Given the description of an element on the screen output the (x, y) to click on. 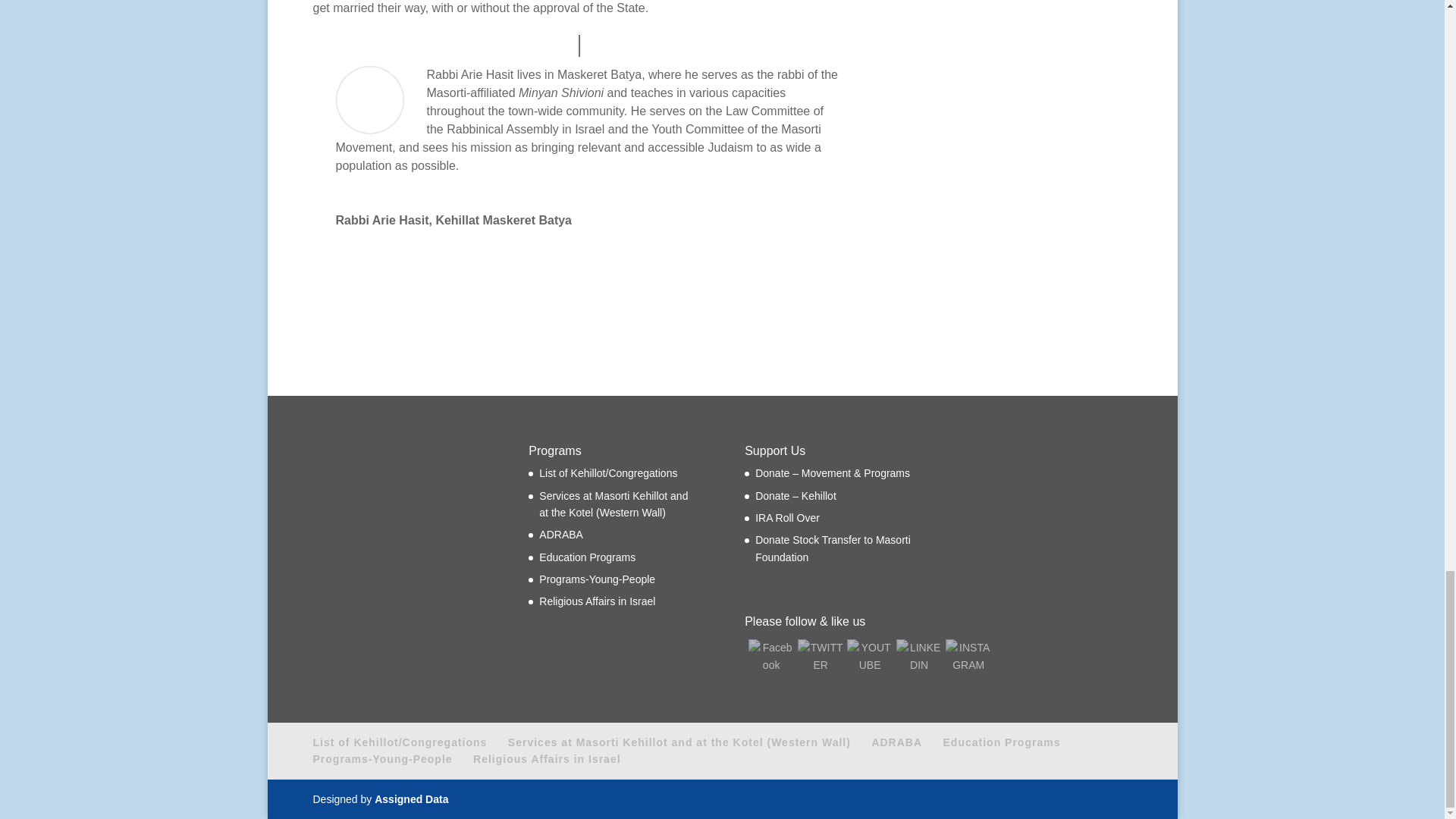
Facebook (770, 656)
TWITTER (820, 656)
YOUTUBE (869, 656)
